Given the description of an element on the screen output the (x, y) to click on. 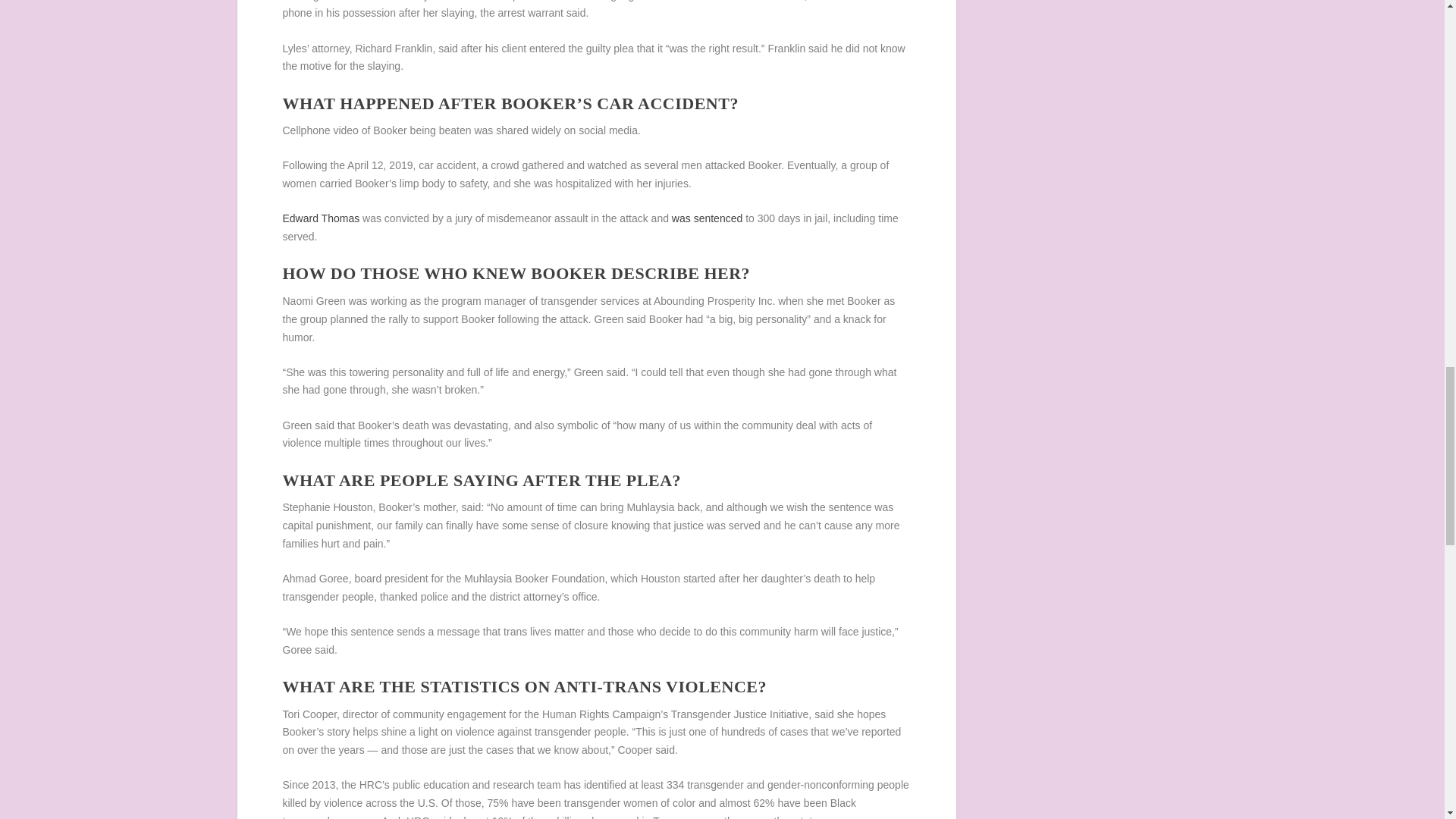
Edward Thomas (320, 218)
was sentenced (706, 218)
